Given the description of an element on the screen output the (x, y) to click on. 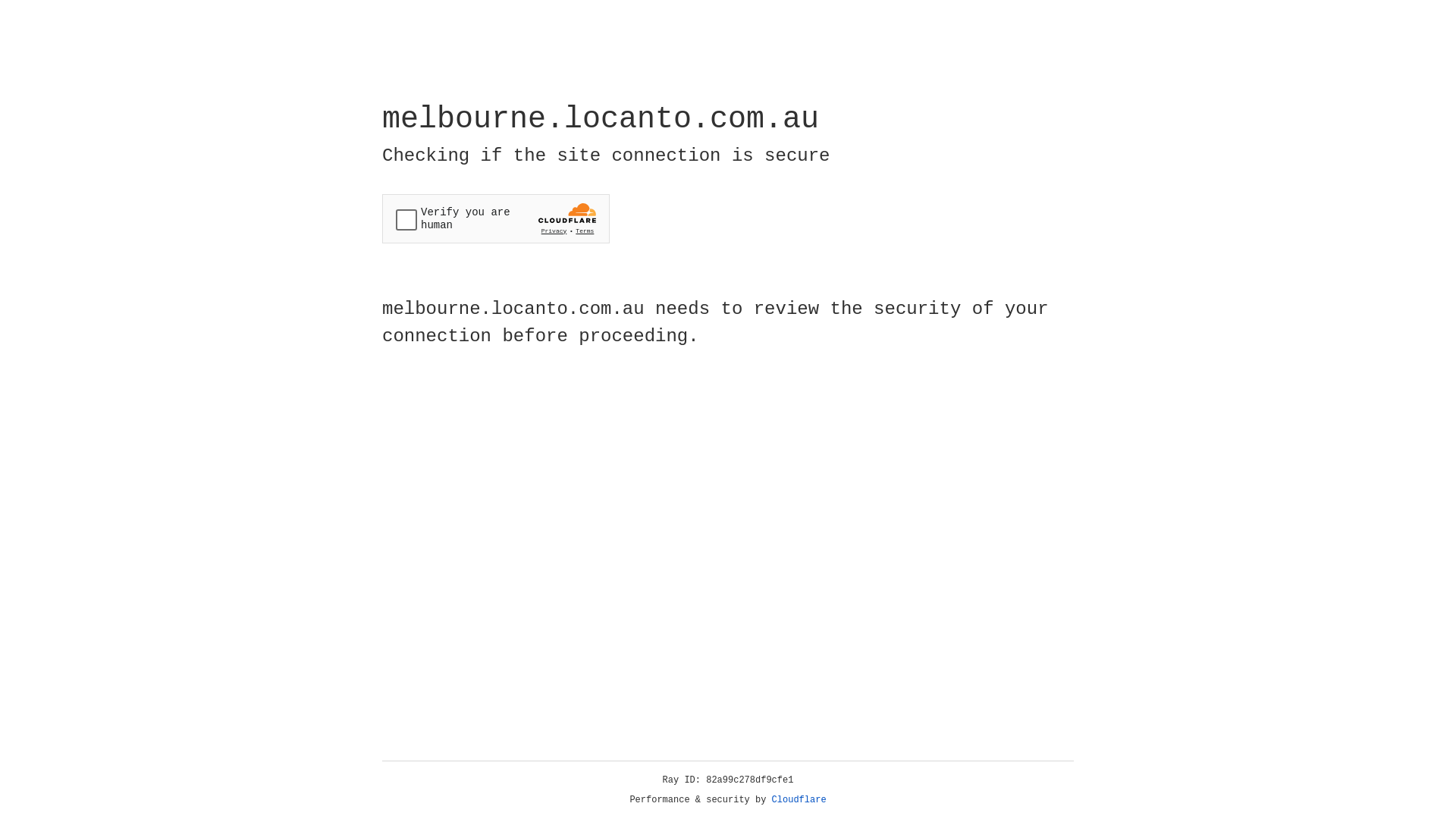
Widget containing a Cloudflare security challenge Element type: hover (495, 218)
Cloudflare Element type: text (798, 799)
